Given the description of an element on the screen output the (x, y) to click on. 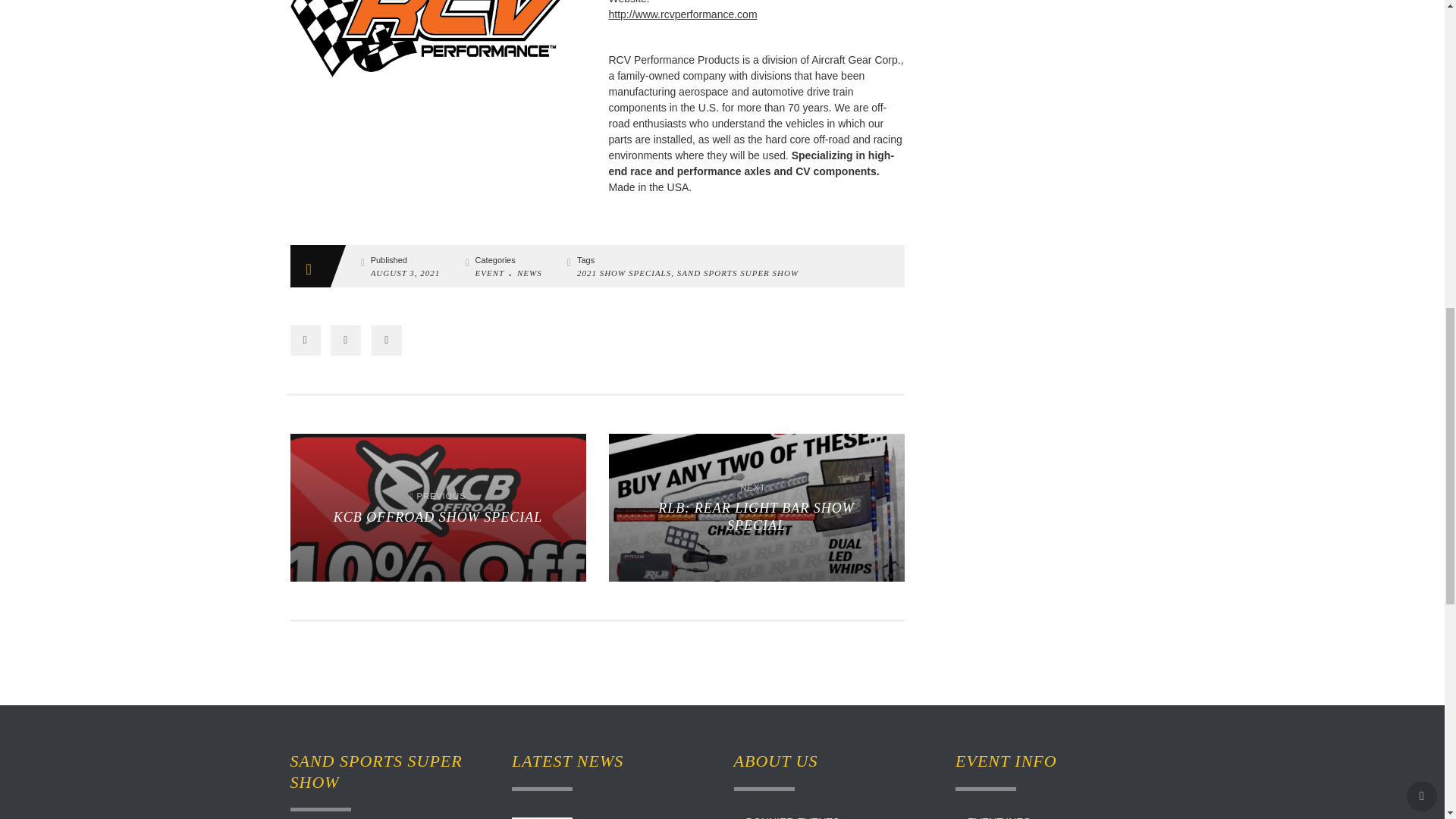
SAND SPORTS SUPER SHOW (737, 272)
Share on Facebook (756, 507)
EVENT (304, 340)
Share on Twitter (489, 272)
NEWS (345, 340)
RCV Performance Logo (528, 272)
Email this (437, 38)
BONNIER EVENTS (437, 507)
